Given the description of an element on the screen output the (x, y) to click on. 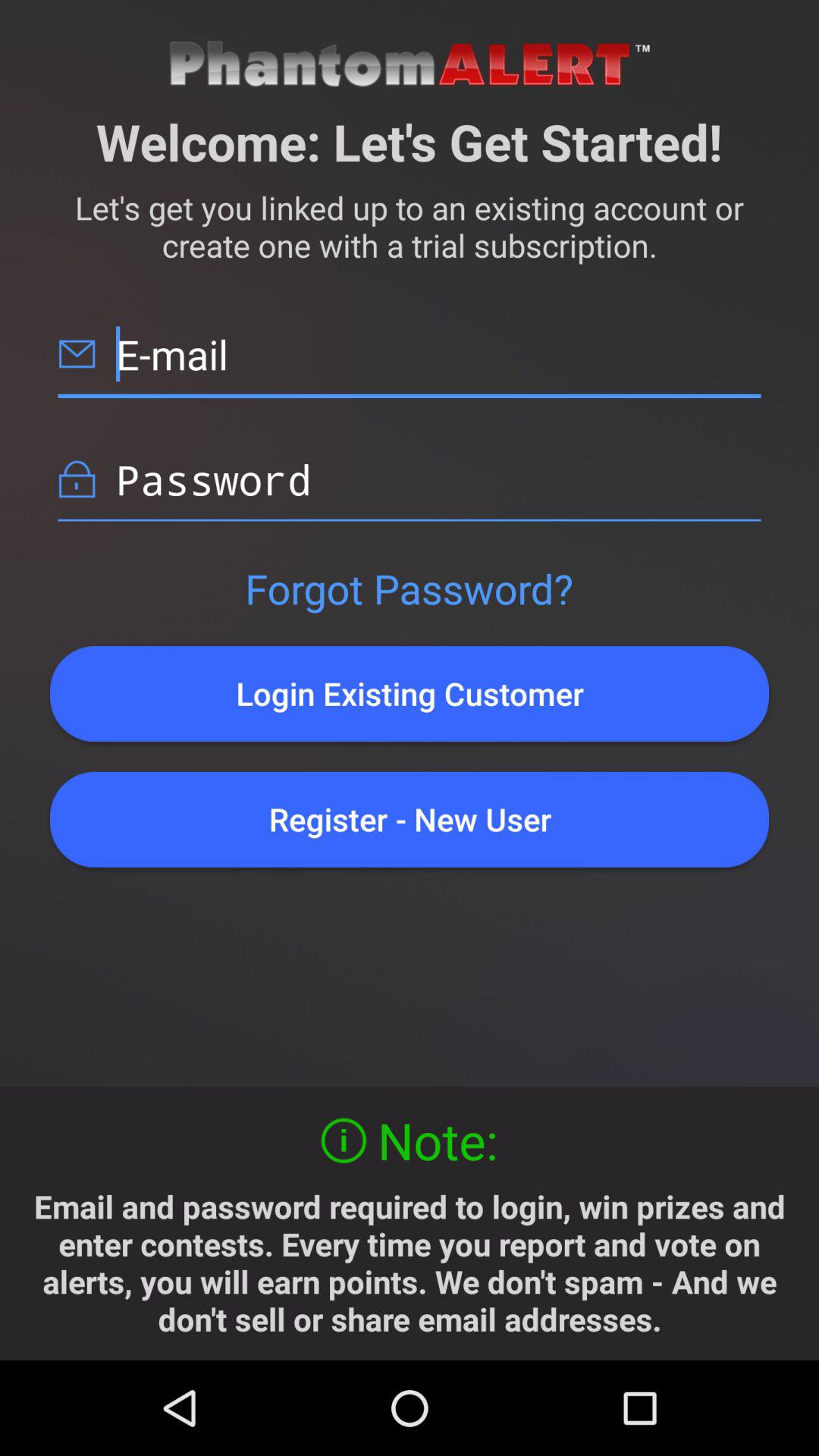
launch the forgot password? (409, 587)
